Given the description of an element on the screen output the (x, y) to click on. 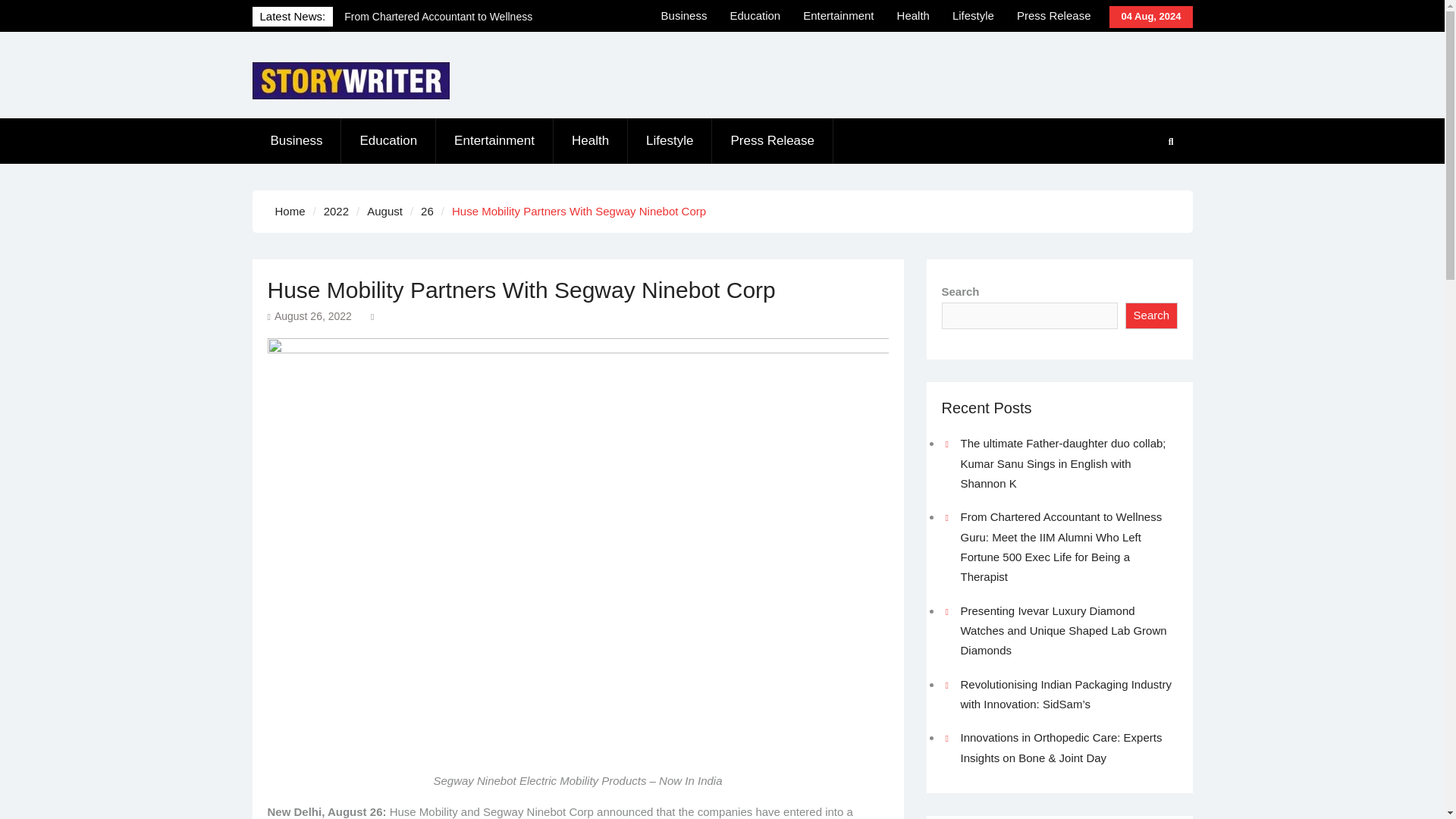
August (384, 210)
Education (387, 140)
Home (289, 210)
Health (912, 15)
26 (426, 210)
Entertainment (838, 15)
Lifestyle (973, 15)
Press Release (1054, 15)
Education (754, 15)
Health (590, 140)
Business (295, 140)
Press Release (771, 140)
Lifestyle (669, 140)
Entertainment (494, 140)
August 26, 2022 (313, 316)
